Given the description of an element on the screen output the (x, y) to click on. 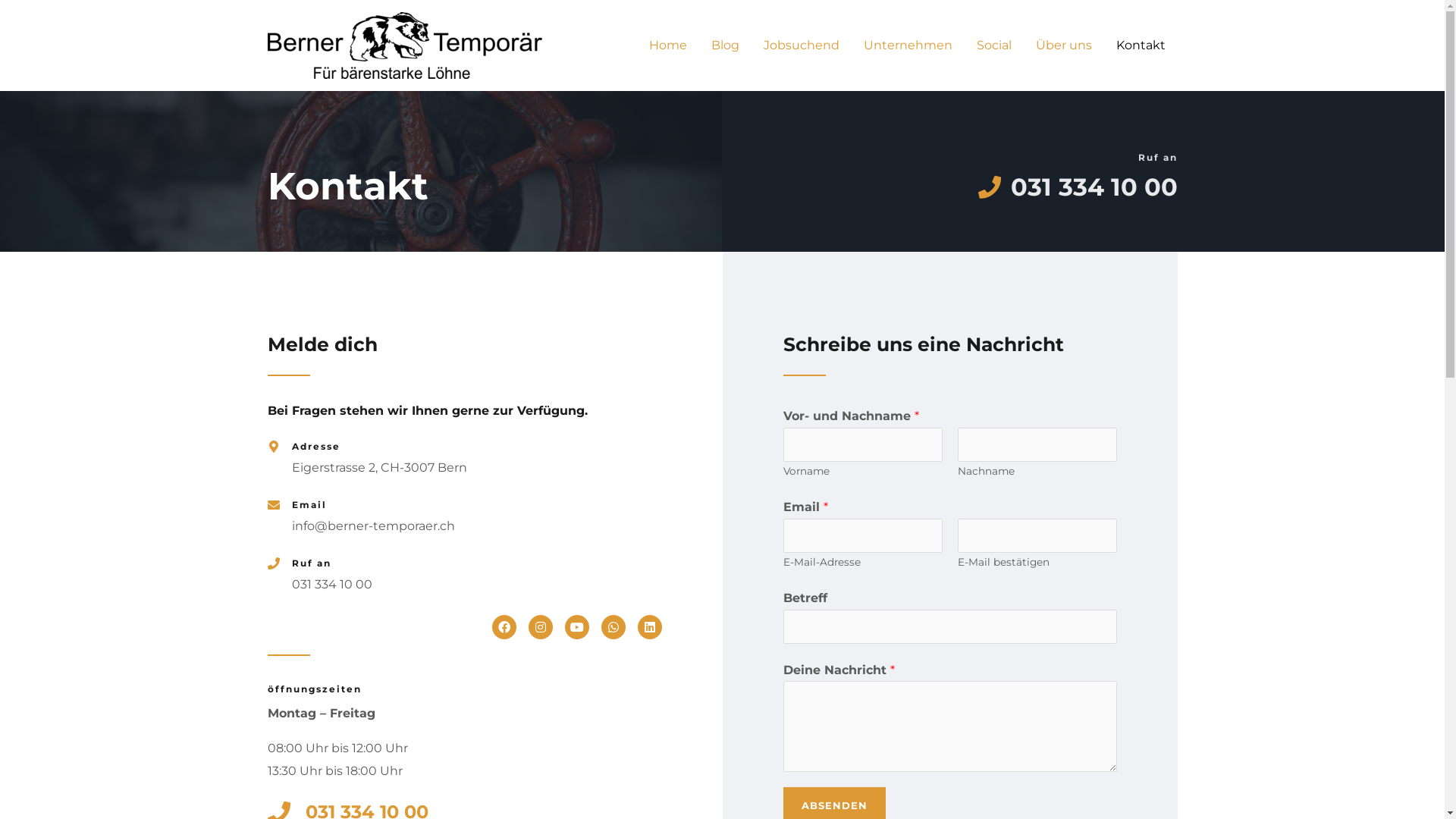
Facebook Element type: text (503, 627)
Instagram Element type: text (539, 627)
Youtube Element type: text (576, 627)
Blog Element type: text (725, 45)
Whatsapp Element type: text (612, 627)
Linkedin Element type: text (649, 627)
Ruf an Element type: text (310, 562)
031 334 10 00 Element type: text (948, 186)
Home Element type: text (668, 45)
Unternehmen Element type: text (906, 45)
Jobsuchend Element type: text (800, 45)
Adresse Element type: text (315, 445)
Social Element type: text (993, 45)
Kontakt Element type: text (1140, 45)
Email Element type: text (308, 504)
